Given the description of an element on the screen output the (x, y) to click on. 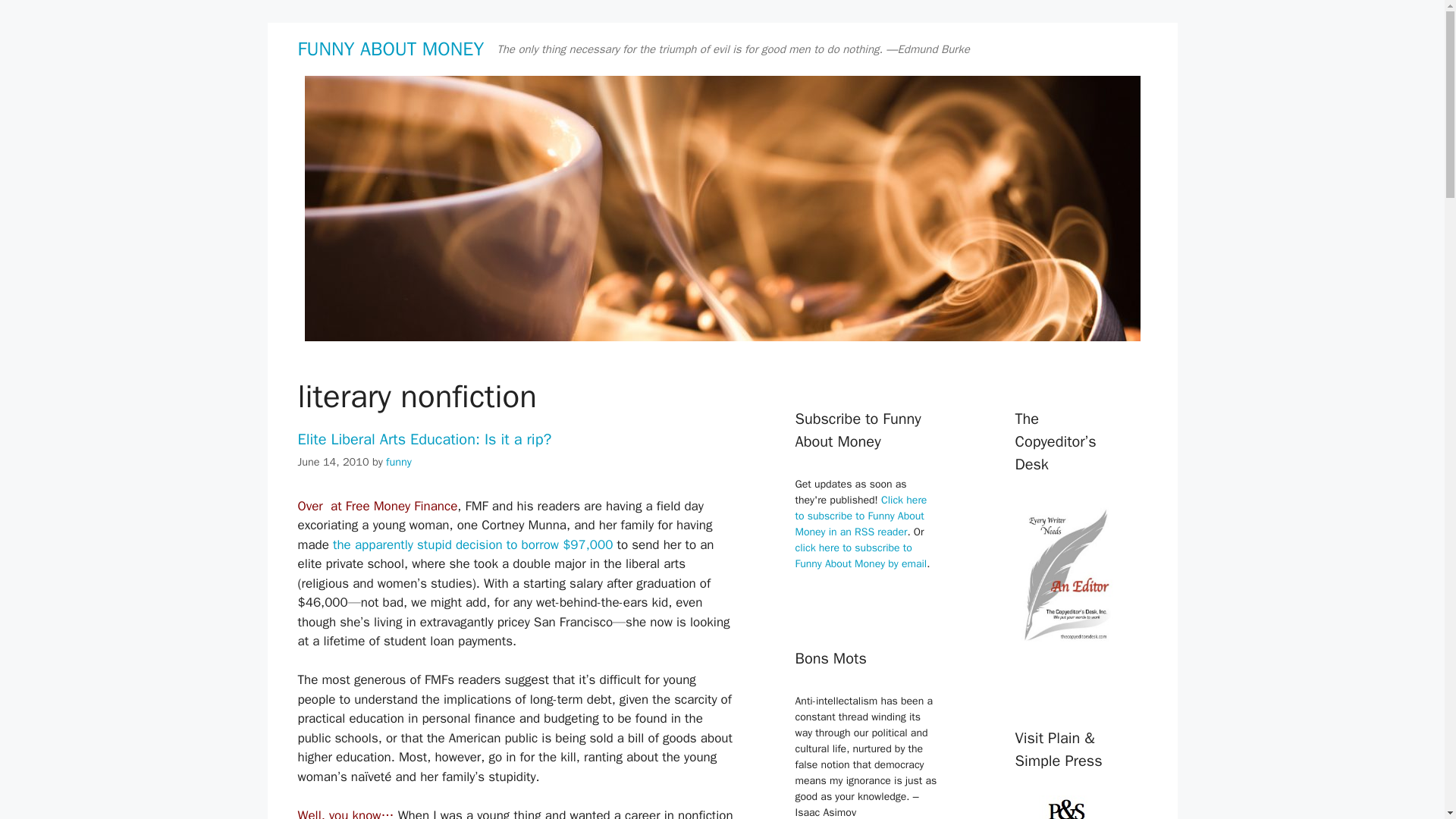
FUNNY ABOUT MONEY (390, 48)
View all posts by funny (398, 461)
funny (398, 461)
click here to subscribe to Funny About Money by email (860, 555)
Elite Liberal Arts Education: Is it a rip? (424, 438)
